Given the description of an element on the screen output the (x, y) to click on. 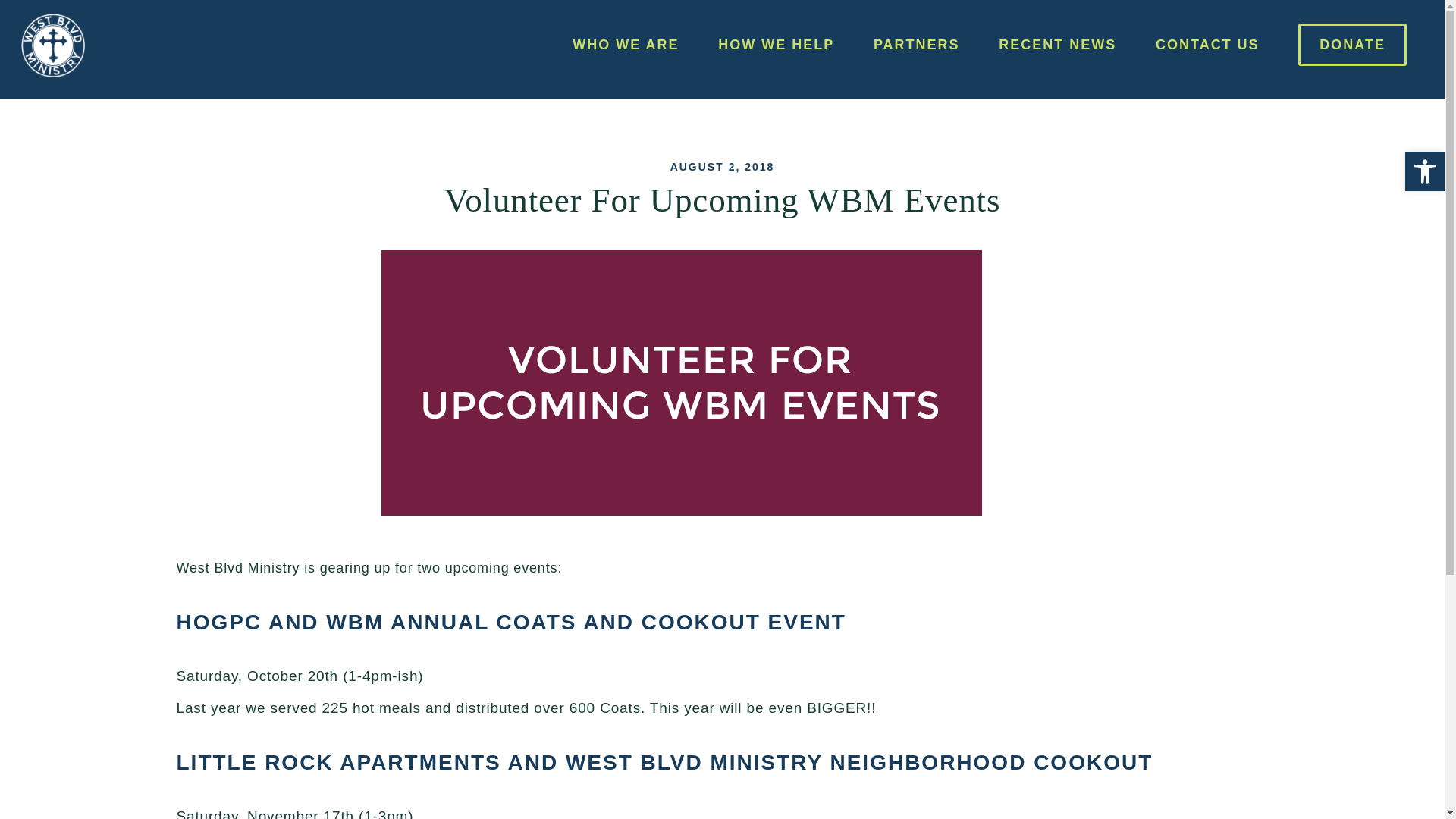
RECENT NEWS (1057, 46)
WHO WE ARE (625, 46)
DONATE (1352, 46)
CONTACT US (1207, 46)
HOW WE HELP (775, 46)
PARTNERS (916, 46)
Accessibility Tools (1424, 170)
